Given the description of an element on the screen output the (x, y) to click on. 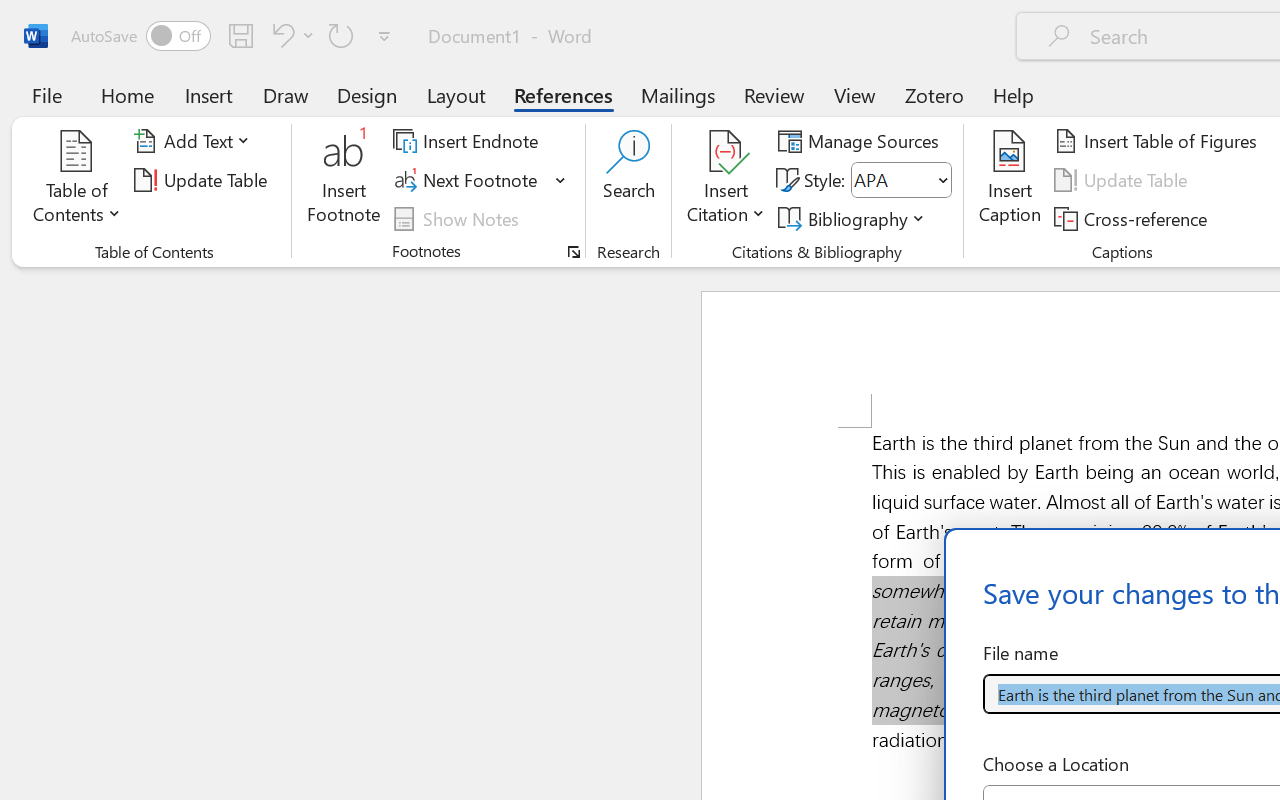
Insert Endnote (468, 141)
Search (628, 179)
Insert Caption... (1009, 180)
Manage Sources... (861, 141)
Insert Table of Figures... (1158, 141)
Table of Contents (77, 179)
Update Table... (204, 179)
Bibliography (854, 218)
